Given the description of an element on the screen output the (x, y) to click on. 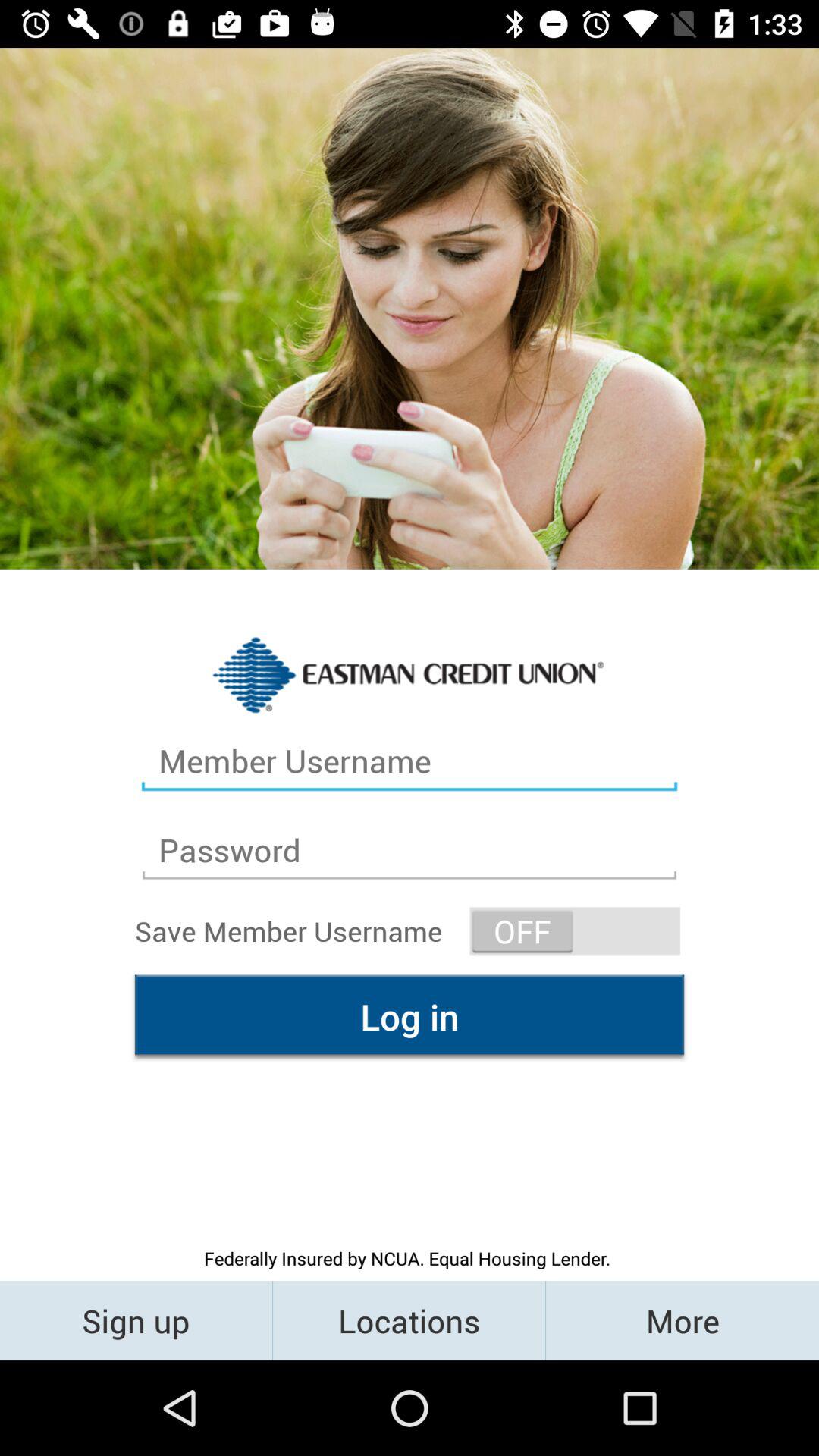
turn on icon to the right of the save member username (574, 930)
